Given the description of an element on the screen output the (x, y) to click on. 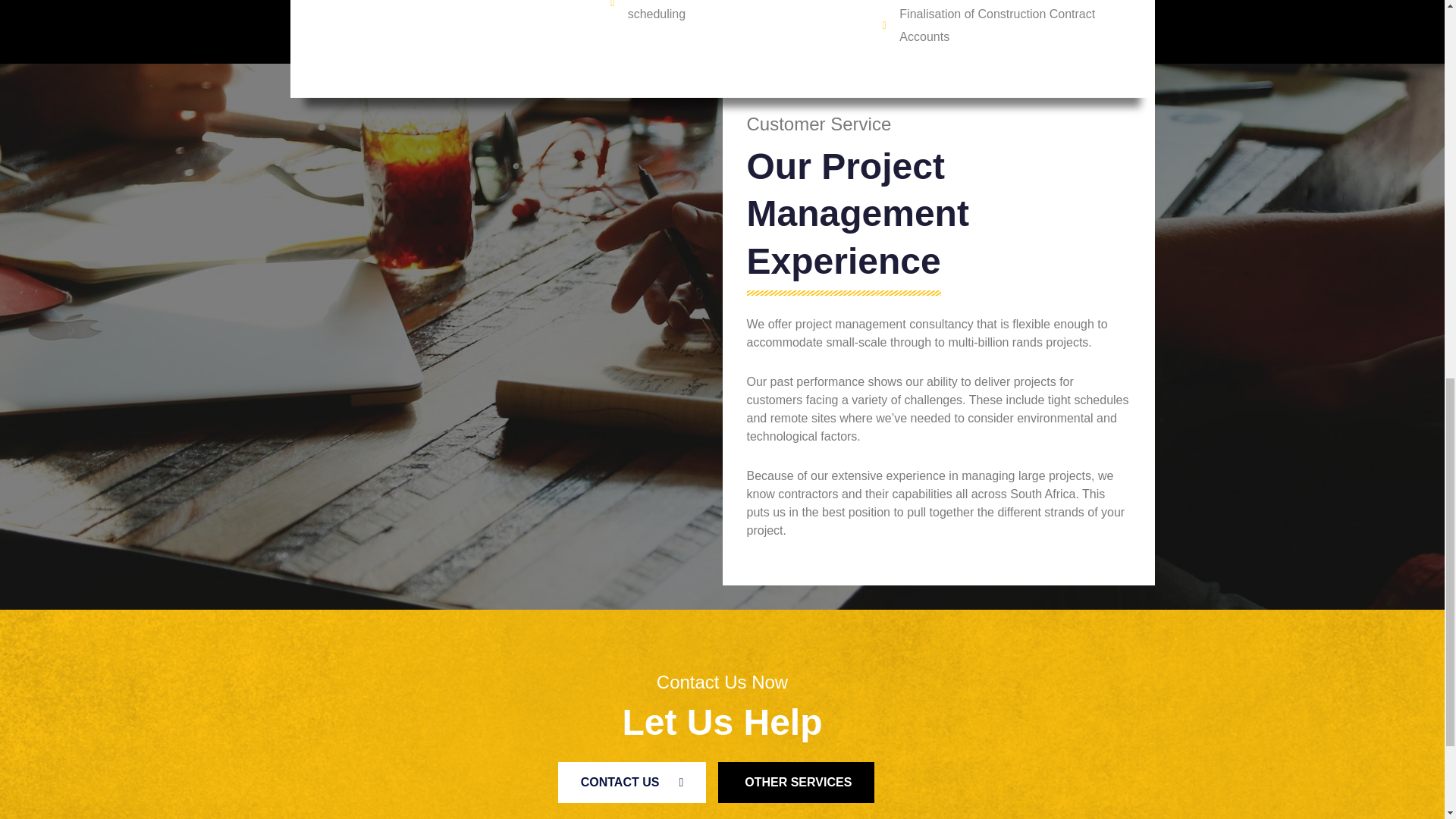
OTHER SERVICES (796, 782)
CONTACT US (631, 782)
